Given the description of an element on the screen output the (x, y) to click on. 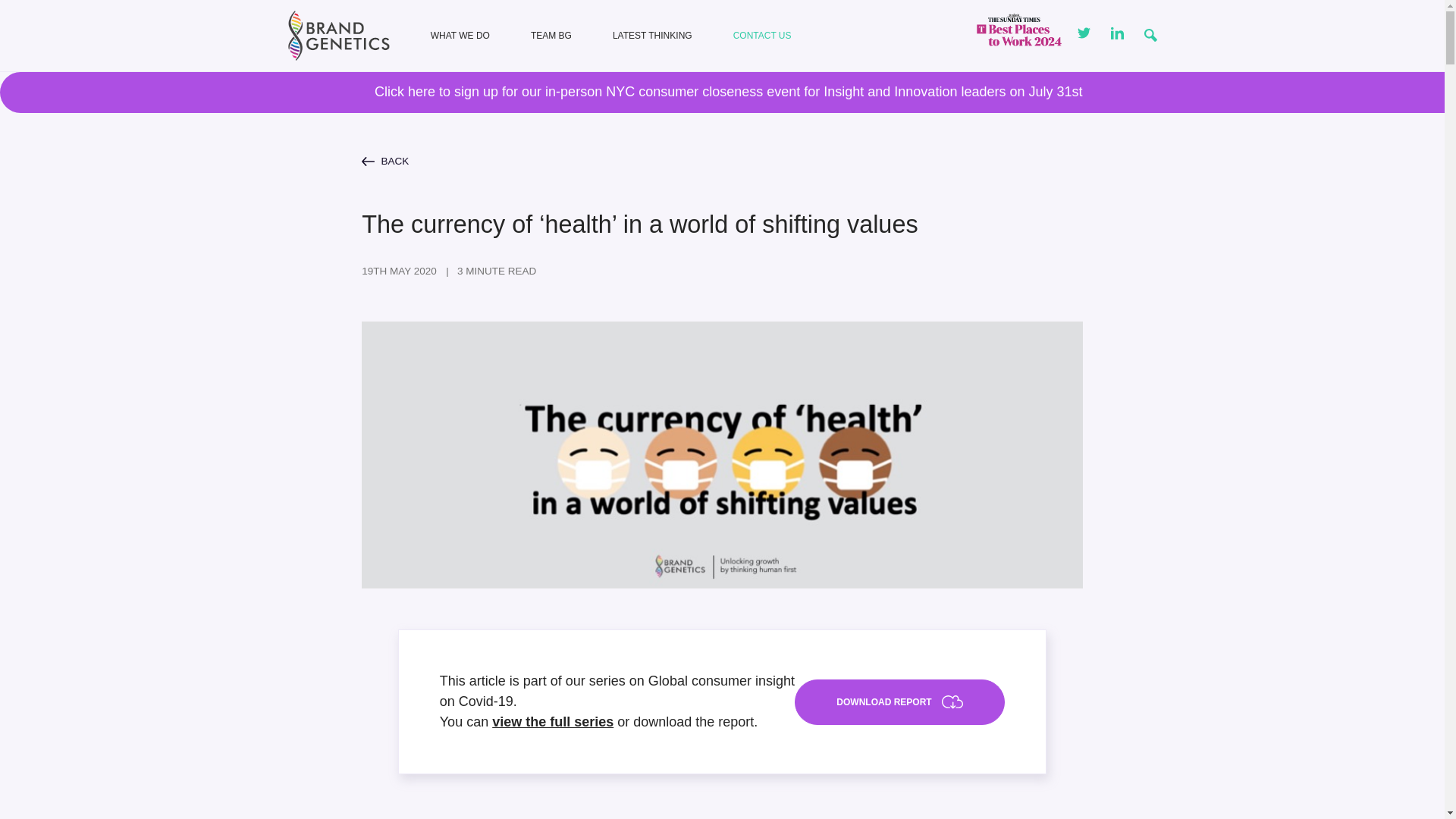
WHAT WE DO (459, 35)
TEAM BG (551, 35)
DOWNLOAD REPORT (899, 701)
CONTACT US (762, 35)
view the full series (552, 721)
LATEST THINKING (652, 35)
